Given the description of an element on the screen output the (x, y) to click on. 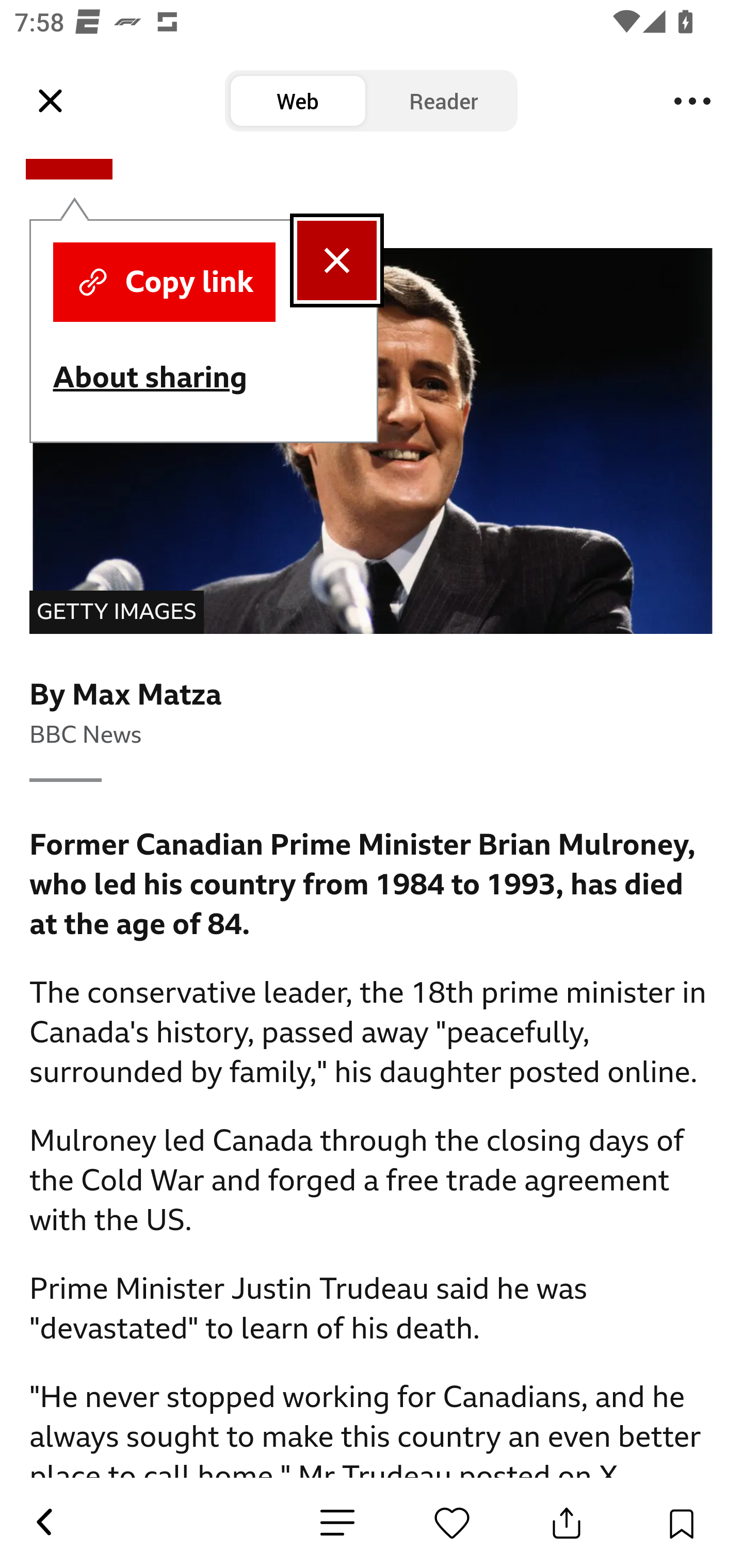
Leading Icon (50, 101)
Reader (443, 101)
Menu (692, 101)
close panel (336, 260)
Copy link (163, 282)
About sharing (163, 376)
Back Button (43, 1523)
News Detail Emotion (451, 1523)
Share Button (566, 1523)
Save Button (680, 1523)
News Detail Emotion (337, 1523)
